Given the description of an element on the screen output the (x, y) to click on. 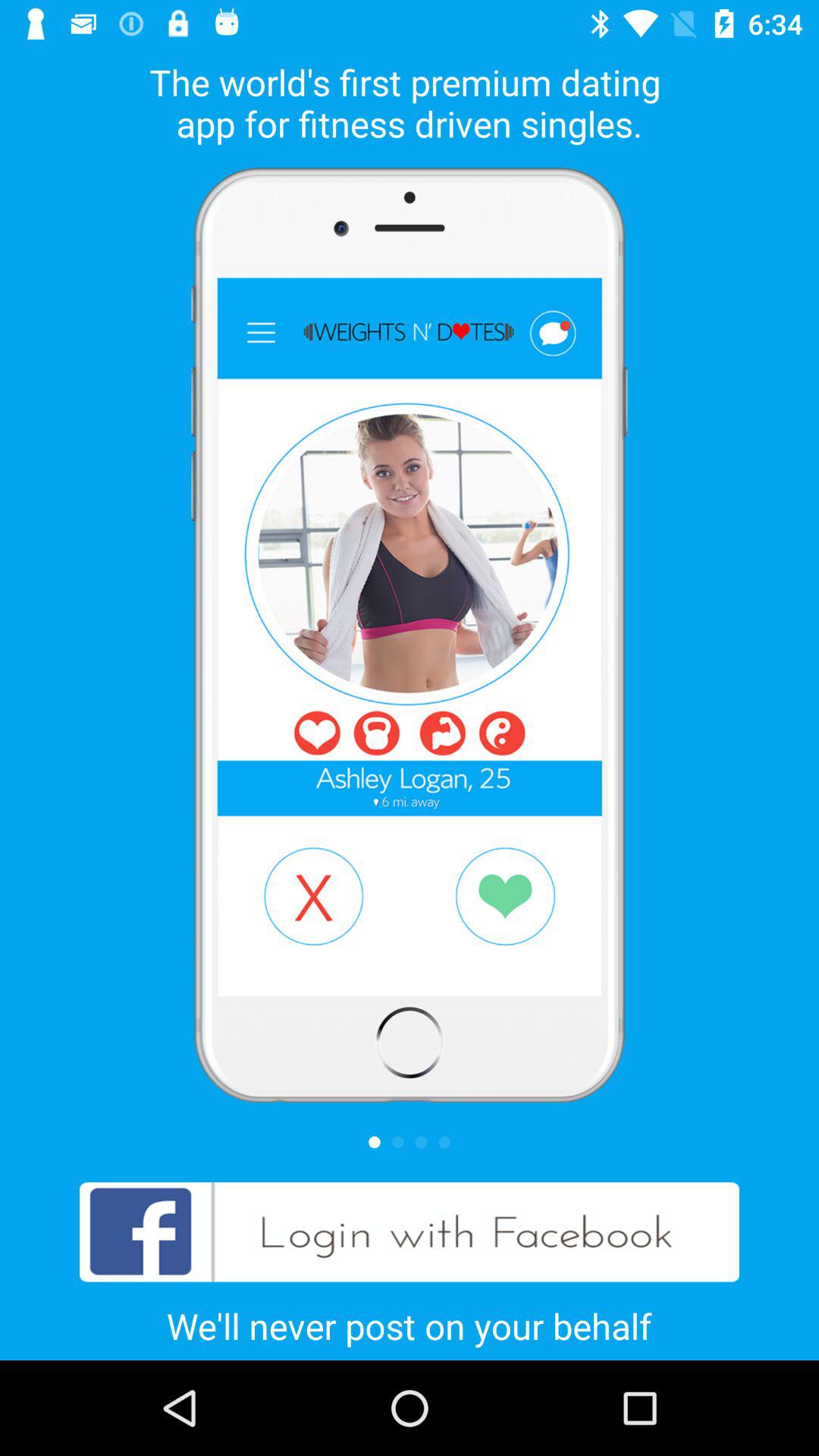
click item above we ll never item (409, 1231)
